Given the description of an element on the screen output the (x, y) to click on. 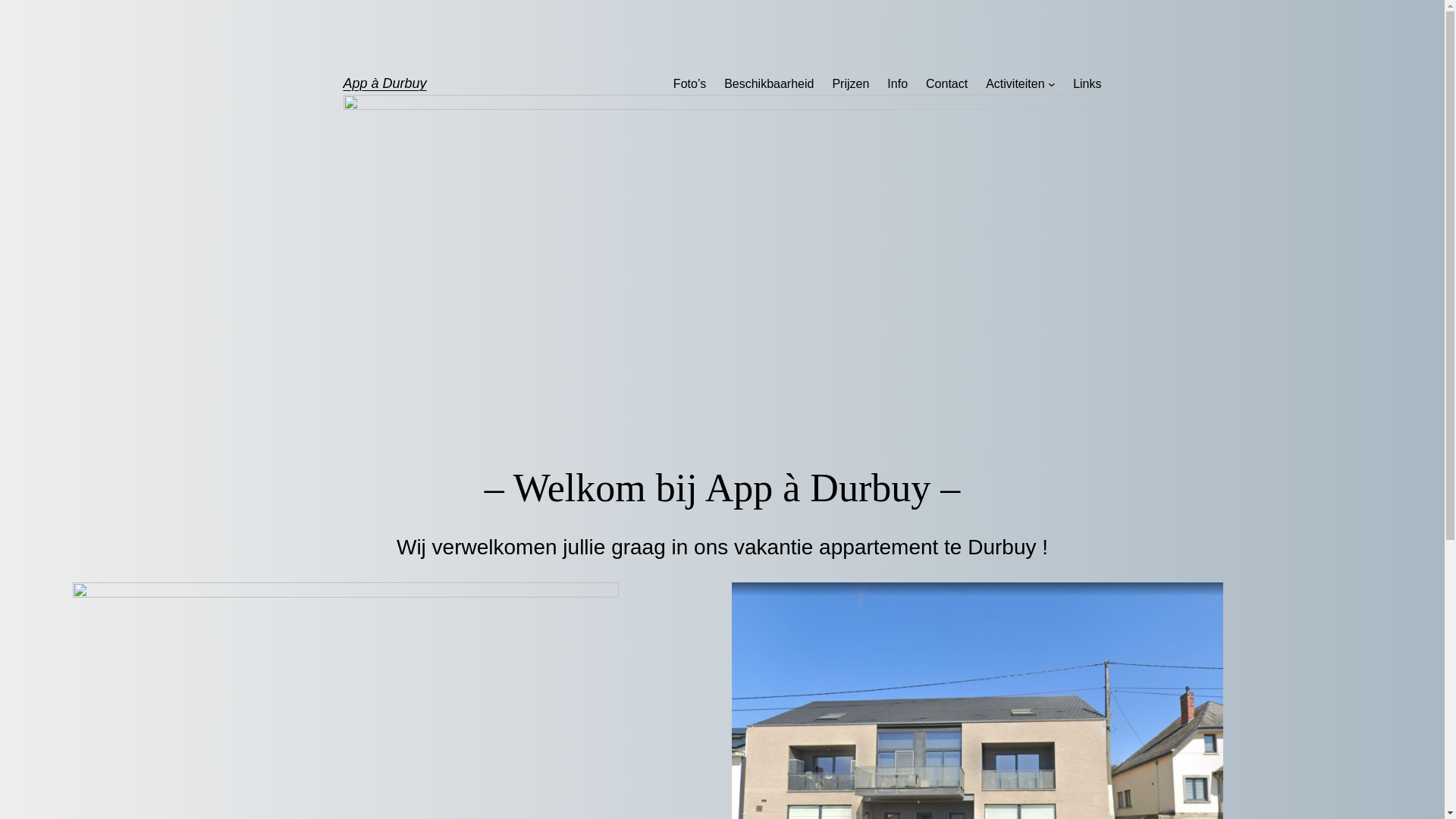
Beschikbaarheid Element type: text (768, 84)
Contact Element type: text (946, 84)
Info Element type: text (897, 84)
Links Element type: text (1087, 84)
Prijzen Element type: text (850, 84)
Activiteiten Element type: text (1014, 84)
